Given the description of an element on the screen output the (x, y) to click on. 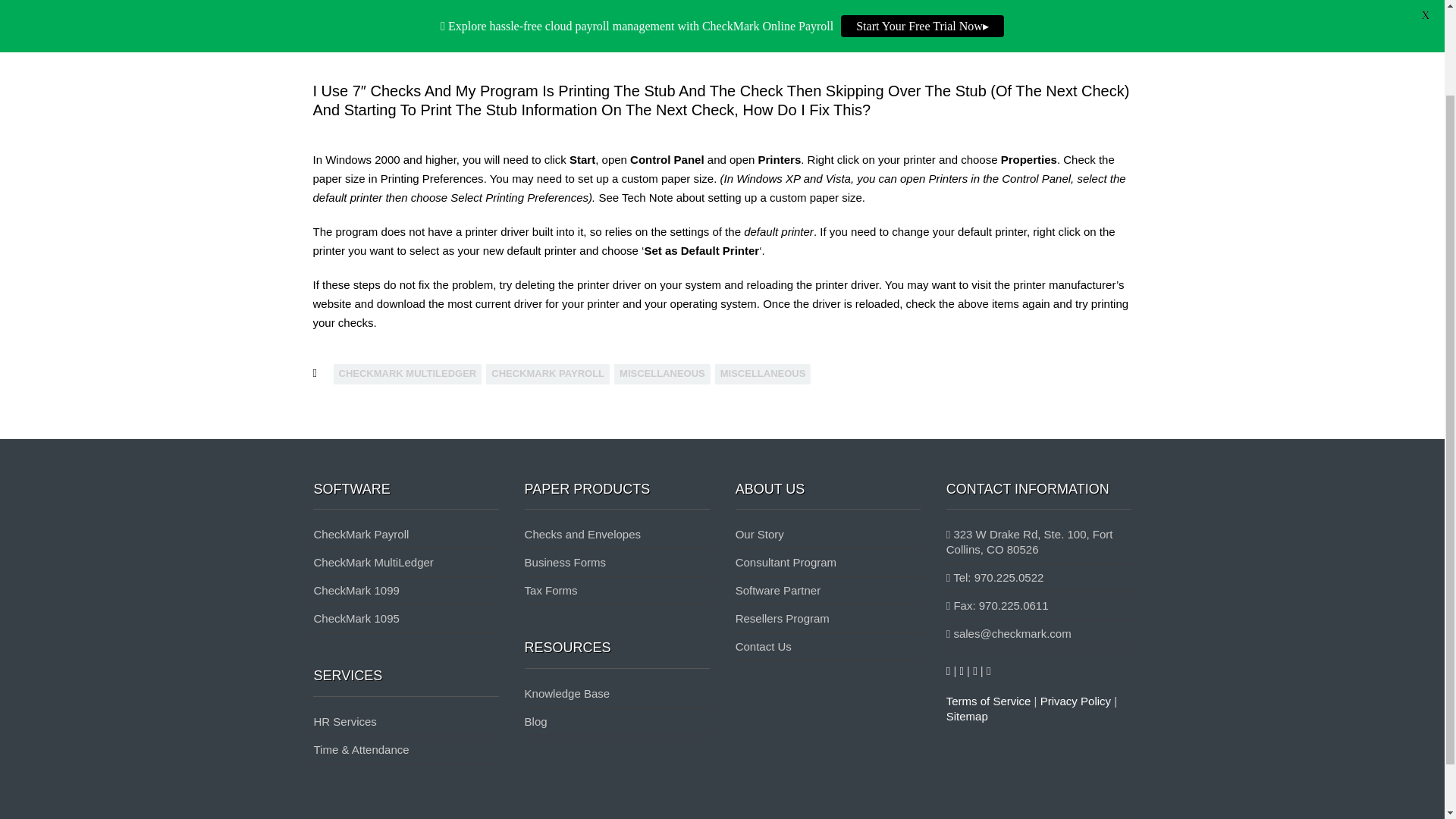
STORE (913, 20)
CheckMark Knowledge Base (430, 10)
CheckMark Knowledge Base (430, 2)
PRODUCTS (845, 20)
